Given the description of an element on the screen output the (x, y) to click on. 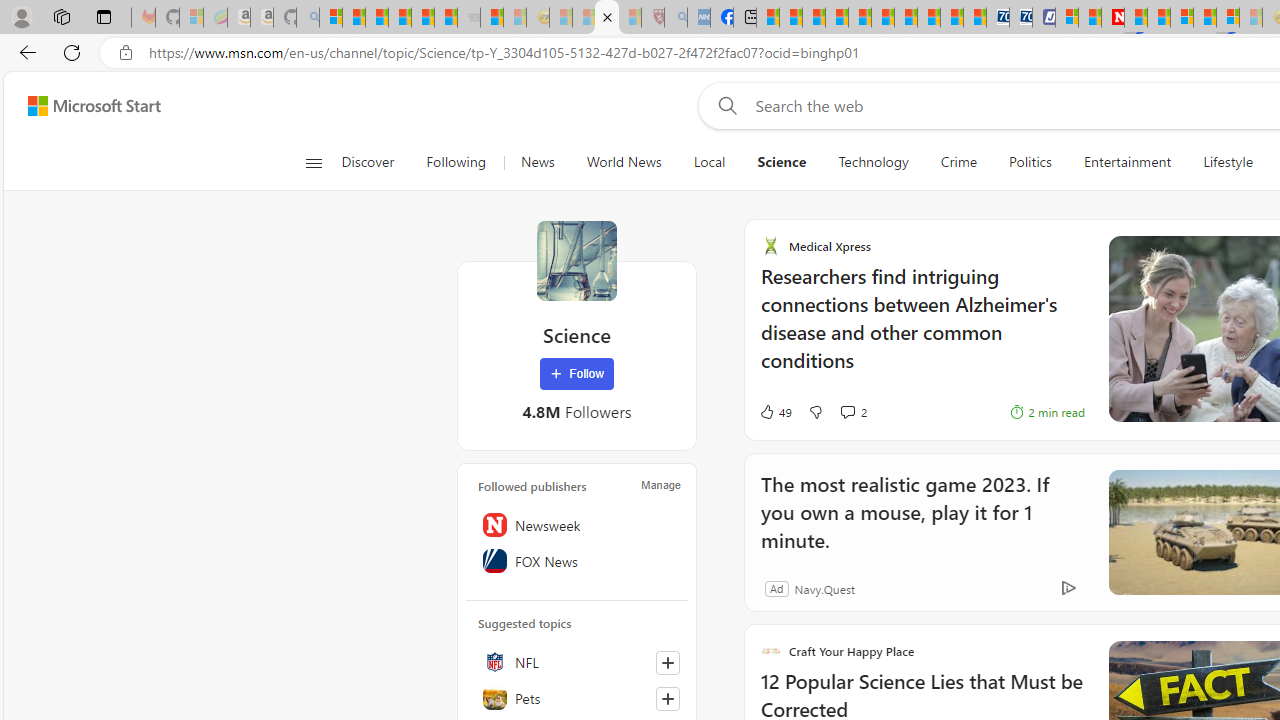
Microsoft-Report a Concern to Bing - Sleeping (191, 17)
NCL Adult Asthma Inhaler Choice Guideline - Sleeping (698, 17)
World - MSN (813, 17)
12 Popular Science Lies that Must be Corrected - Sleeping (630, 17)
Combat Siege - Sleeping (468, 17)
Cheap Car Rentals - Save70.com (997, 17)
